Given the description of an element on the screen output the (x, y) to click on. 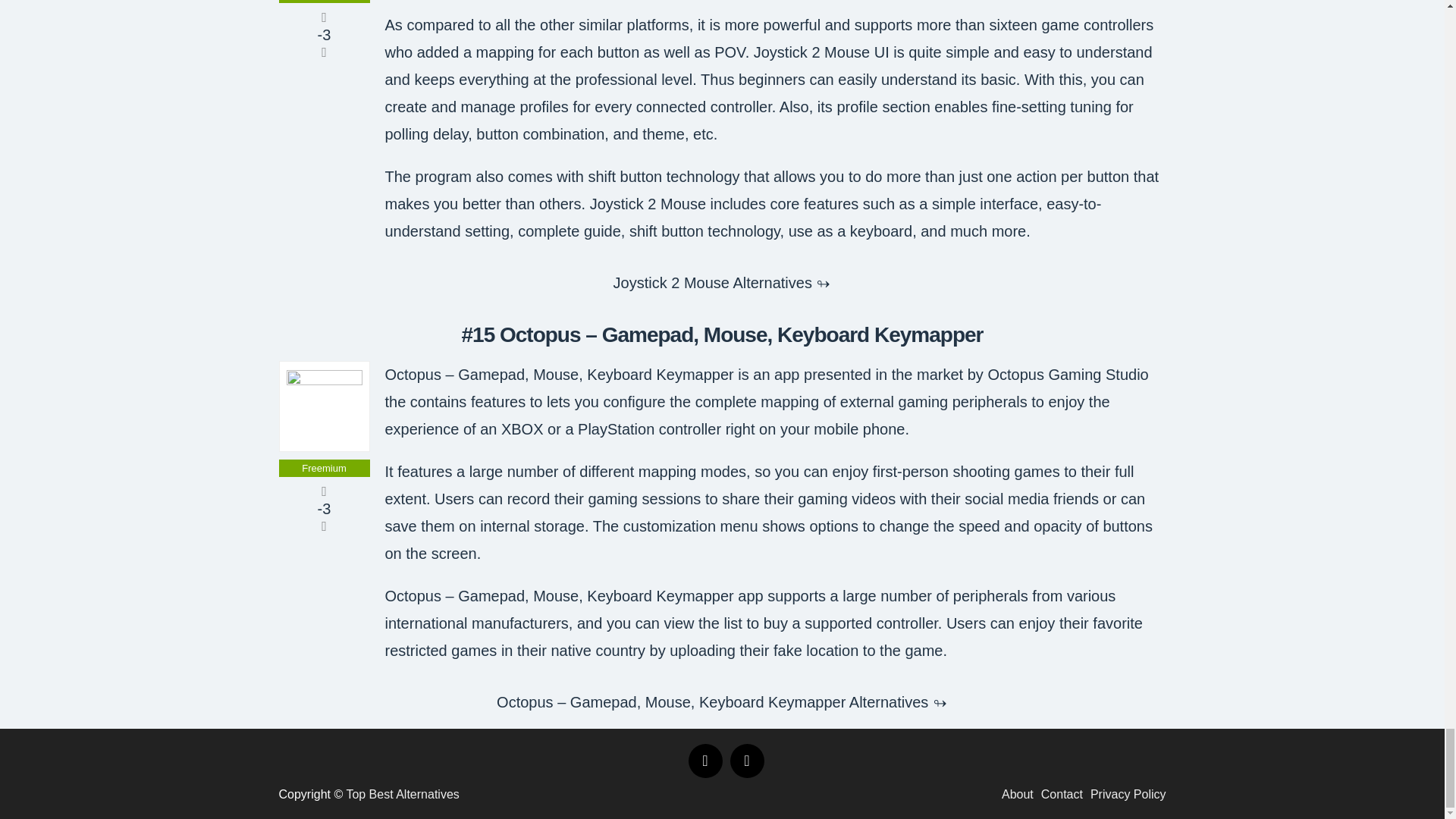
Twitter (745, 760)
Facebook (705, 760)
